Given the description of an element on the screen output the (x, y) to click on. 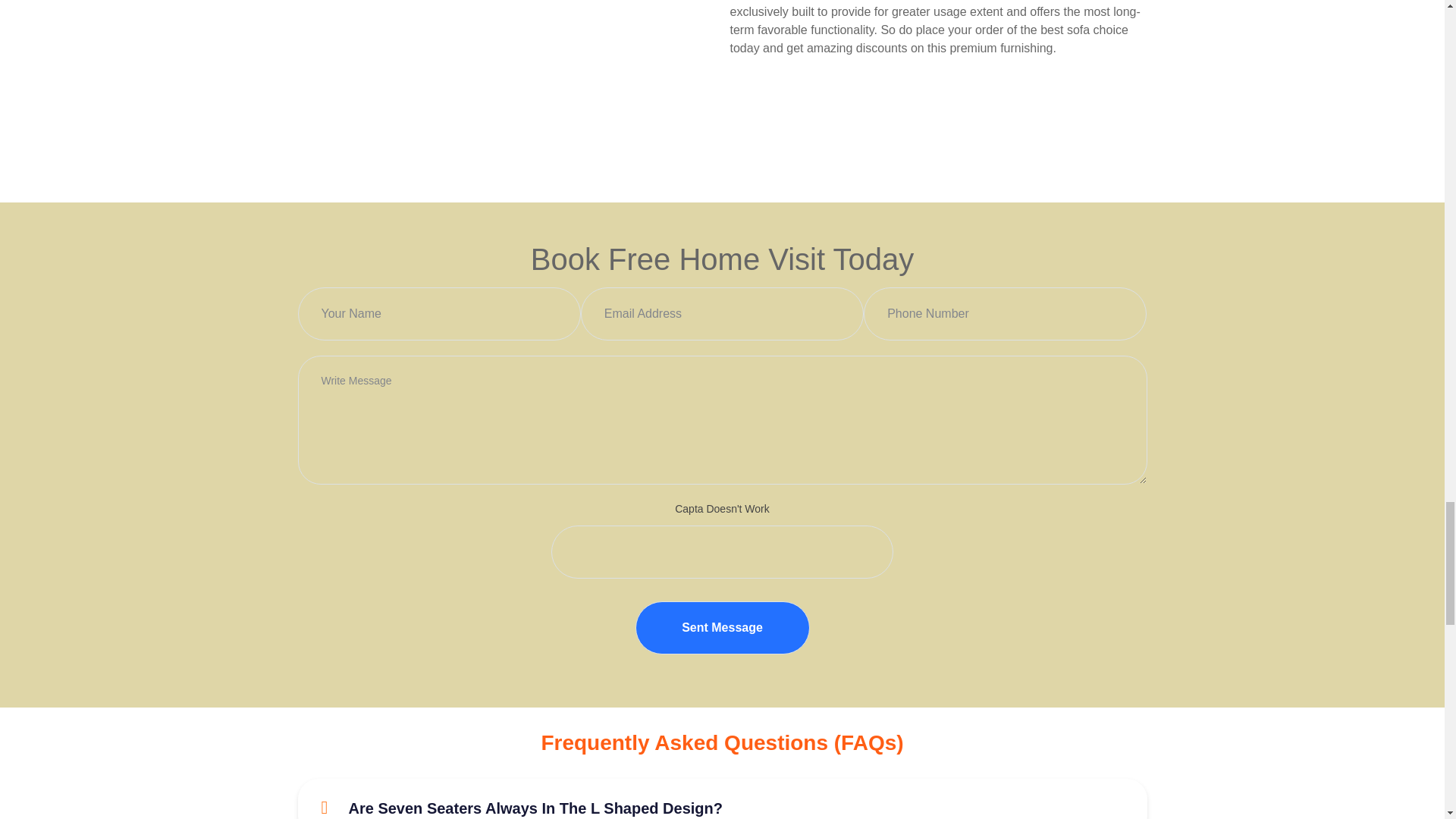
Sent Message (721, 627)
